Given the description of an element on the screen output the (x, y) to click on. 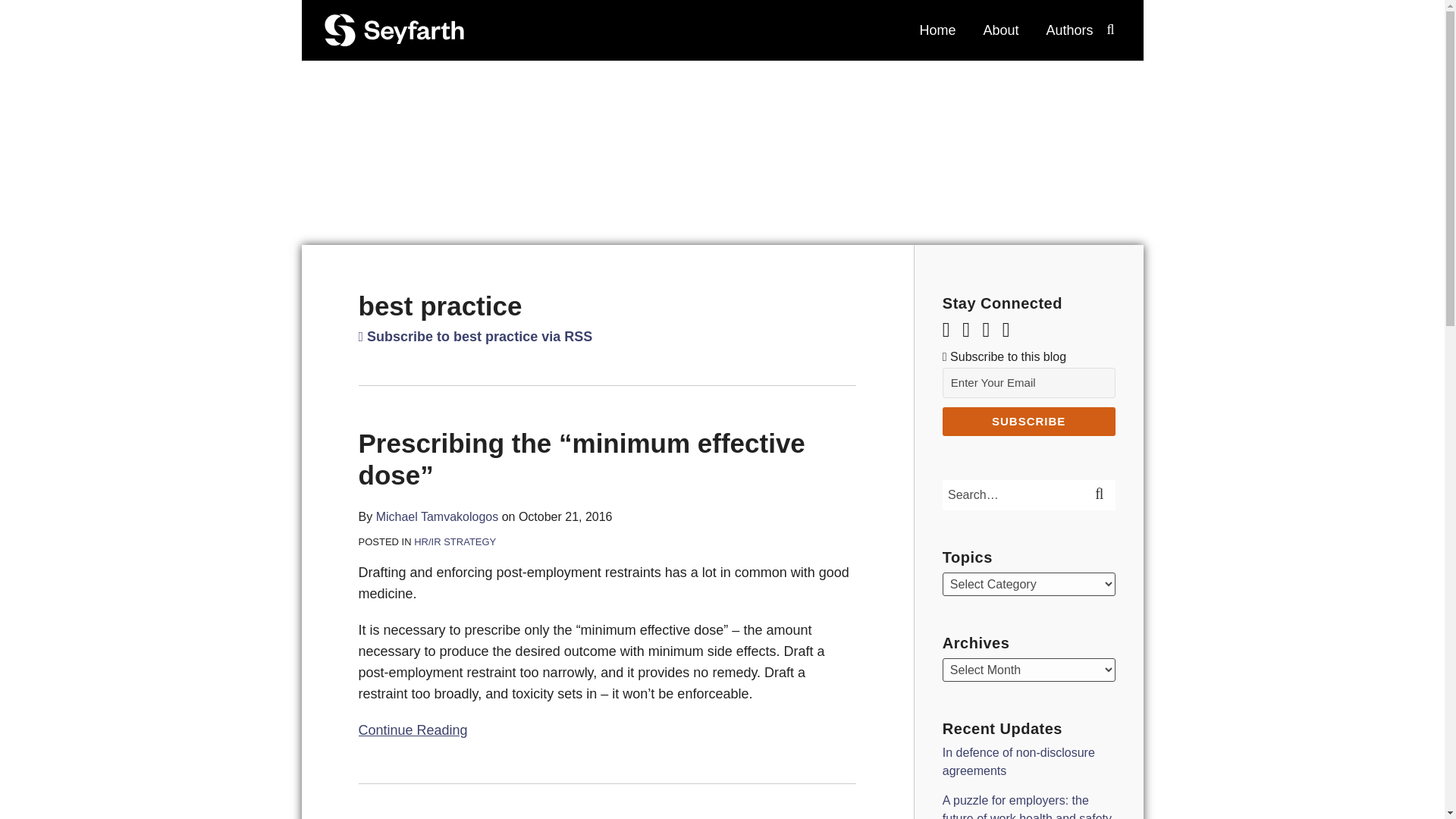
In defence of non-disclosure agreements (1018, 761)
Home (936, 30)
Subscribe to best practice via RSS (475, 336)
Subscribe (1028, 421)
About (999, 30)
SEARCH (1101, 494)
Subscribe (1028, 421)
Authors (1069, 30)
Michael Tamvakologos (437, 516)
